Given the description of an element on the screen output the (x, y) to click on. 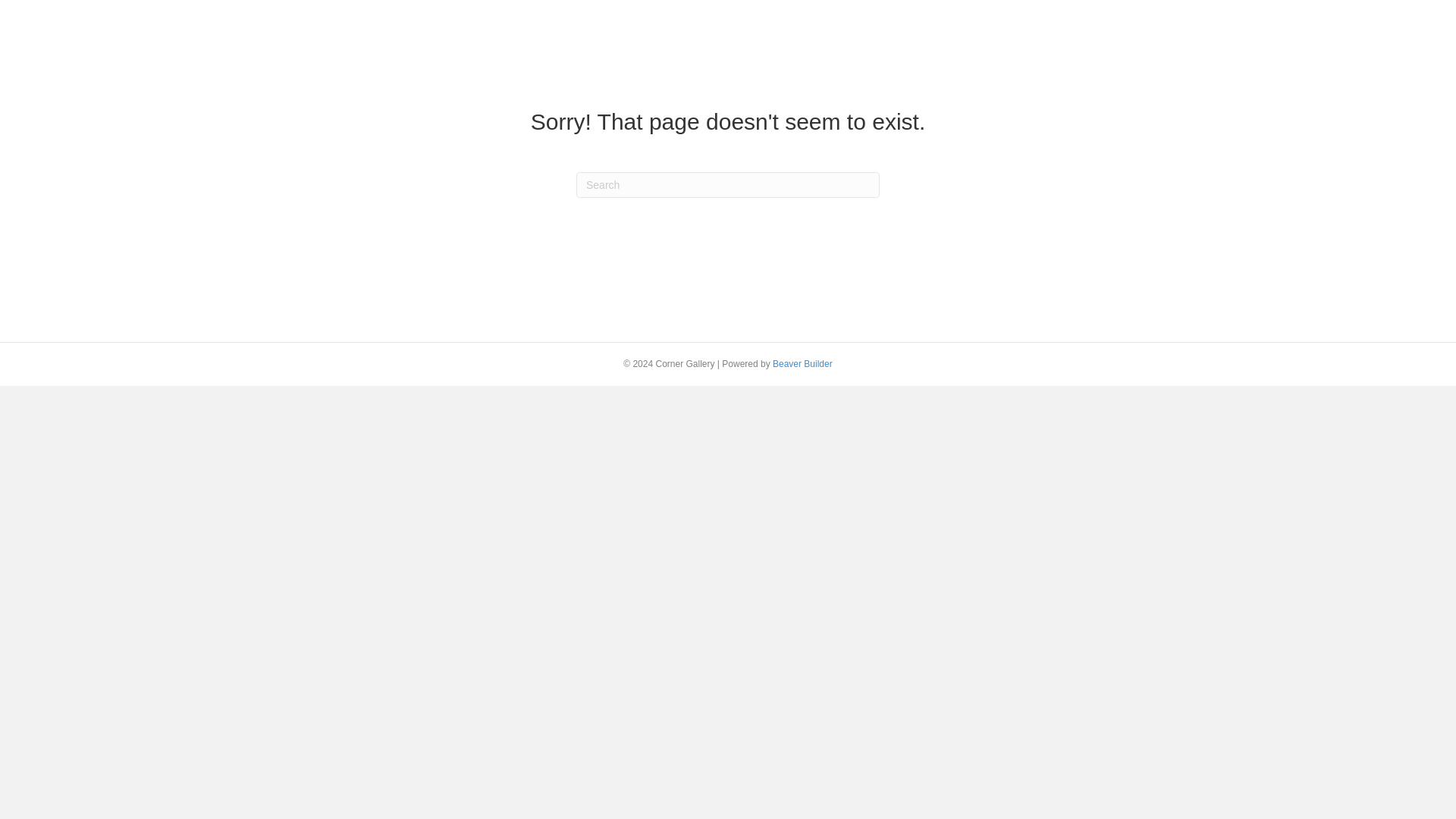
WordPress Page Builder Plugin (802, 363)
Type and press Enter to search. (727, 184)
Beaver Builder (802, 363)
